Given the description of an element on the screen output the (x, y) to click on. 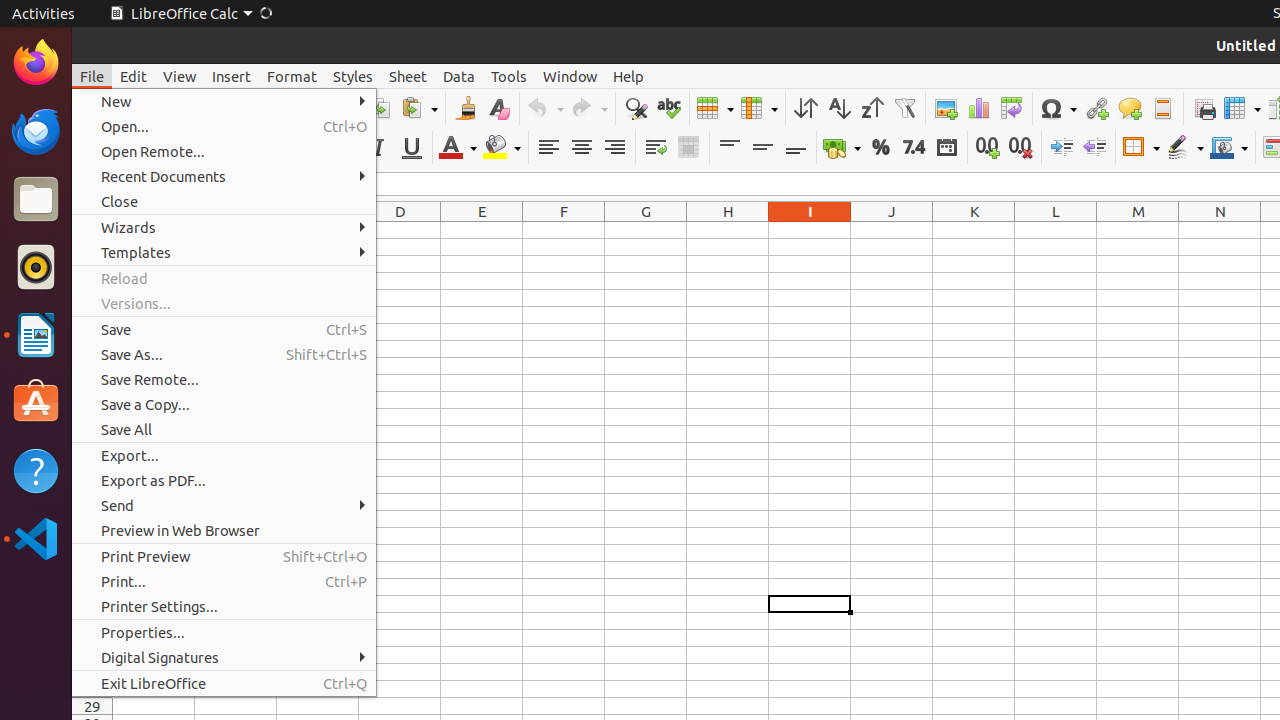
Undo Element type: push-button (545, 108)
Borders (Shift to overwrite) Element type: push-button (1141, 147)
Print... Element type: menu-item (224, 581)
Border Style Element type: push-button (1185, 147)
N1 Element type: table-cell (1220, 230)
